Given the description of an element on the screen output the (x, y) to click on. 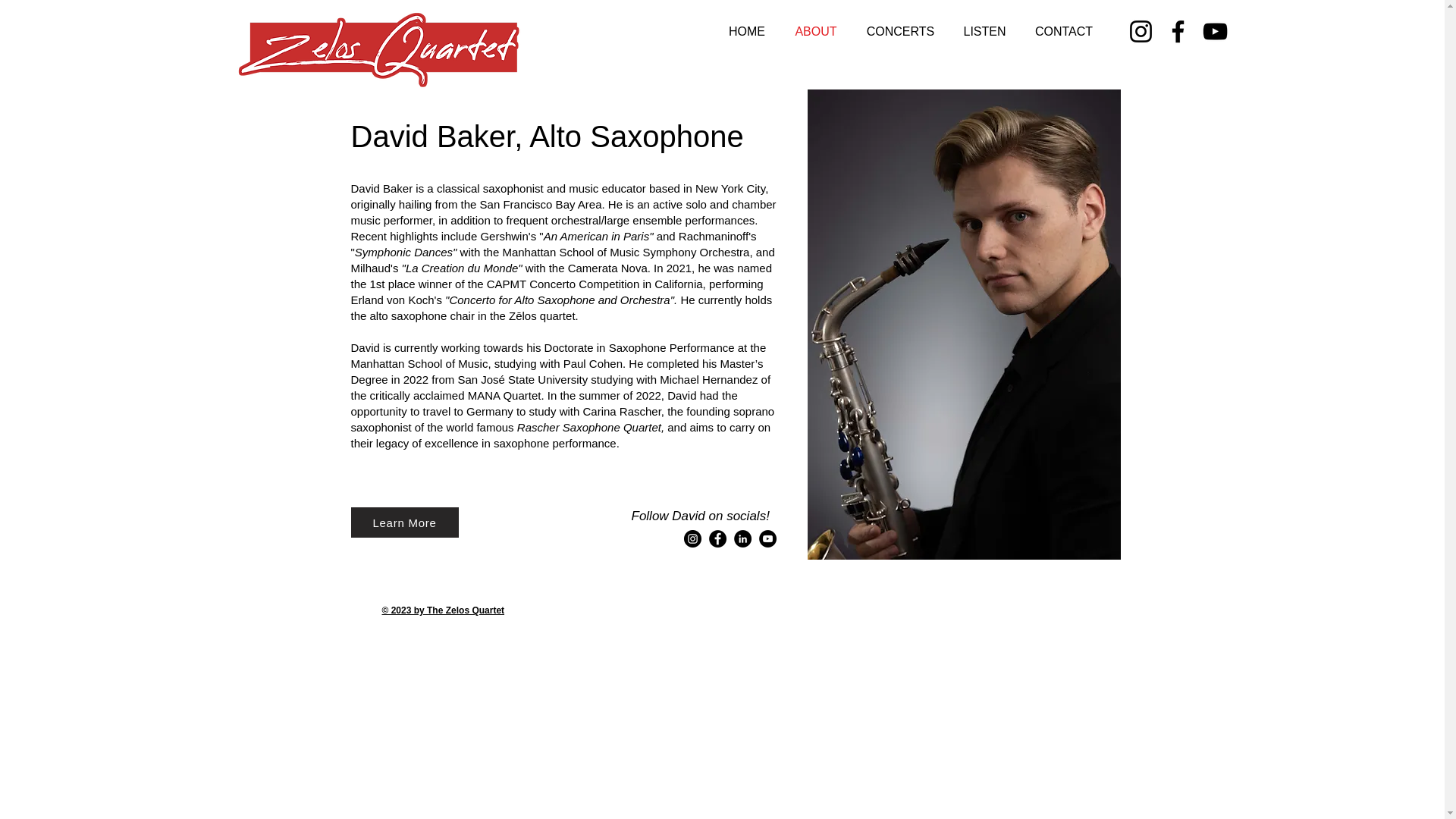
HOME (747, 31)
Learn More (404, 521)
ABOUT (814, 31)
LISTEN (984, 31)
Zelos Logo NEW2.png (380, 48)
CONTACT (1064, 31)
CONCERTS (900, 31)
